Given the description of an element on the screen output the (x, y) to click on. 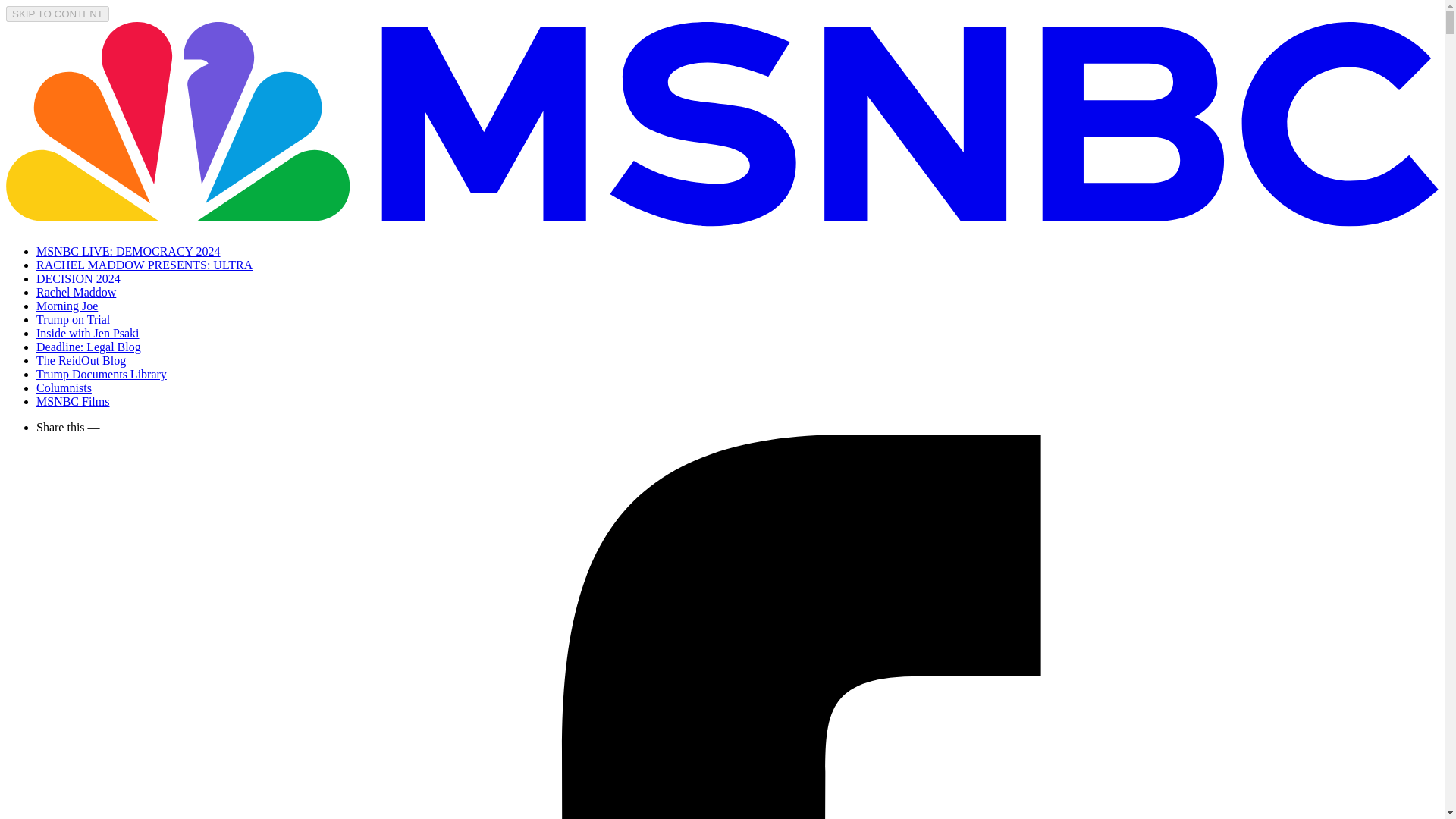
MSNBC LIVE: DEMOCRACY 2024 (128, 250)
MSNBC Films (72, 400)
Deadline: Legal Blog (88, 346)
Inside with Jen Psaki (87, 332)
Morning Joe (66, 305)
DECISION 2024 (78, 278)
Trump Documents Library (101, 373)
Rachel Maddow (76, 291)
Columnists (63, 387)
RACHEL MADDOW PRESENTS: ULTRA (143, 264)
SKIP TO CONTENT (57, 13)
The ReidOut Blog (80, 359)
Trump on Trial (73, 318)
